Given the description of an element on the screen output the (x, y) to click on. 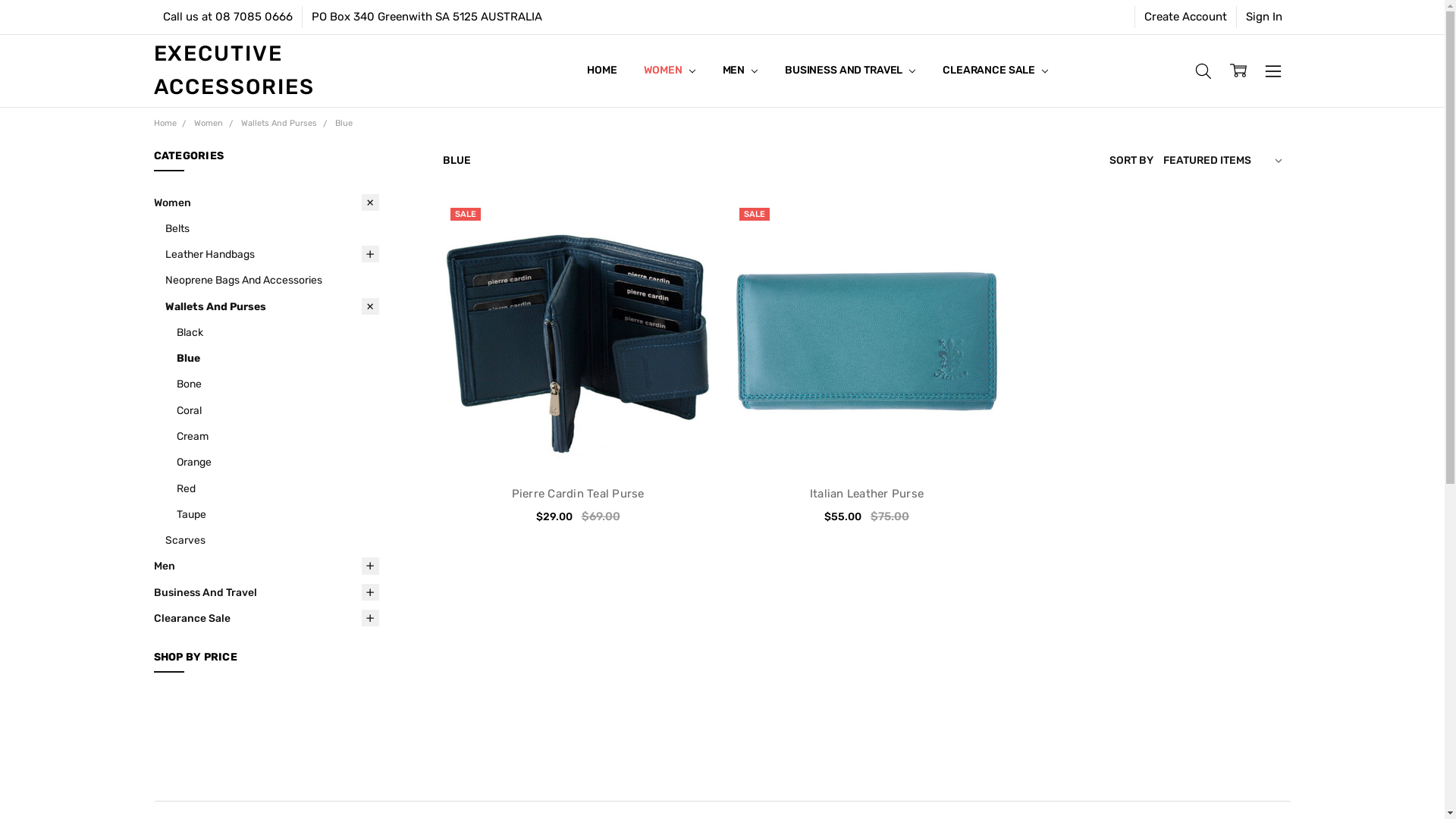
MEN Element type: text (740, 70)
Clearance Sale Element type: text (265, 617)
Leather Handbags Element type: text (272, 253)
Create Account Element type: text (1184, 17)
Pierre Cardin Teal Purse Element type: text (577, 493)
WOMEN Element type: text (669, 70)
Blue Element type: text (276, 357)
BLOG Element type: text (600, 70)
Teal Pierre Cardin Purse Element type: hover (577, 335)
Belts Element type: text (272, 228)
Cream Element type: text (276, 435)
SHIPPING Element type: text (611, 70)
Sign In Element type: text (1263, 17)
Women Element type: text (208, 123)
CLEARANCE SALE Element type: text (994, 70)
Men Element type: text (265, 565)
Scarves Element type: text (272, 539)
Coral Element type: text (276, 410)
HOME Element type: text (601, 70)
EXECUTIVE ACCESSORIES Element type: text (300, 138)
Business And Travel Element type: text (265, 592)
Women Element type: text (265, 202)
Call us at 08 7085 0666 Element type: text (227, 17)
Black Element type: text (276, 332)
Home Element type: text (164, 123)
Bone Element type: text (276, 383)
Turquoise Leather Wallet Element type: hover (866, 335)
Wallets And Purses Element type: text (272, 306)
PRIVACY POLICY Element type: text (628, 70)
CONTACT US Element type: text (619, 70)
Blue Element type: text (343, 123)
Show All Element type: hover (595, 70)
BUSINESS AND TRAVEL Element type: text (849, 70)
Red Element type: text (276, 488)
Neoprene Bags And Accessories Element type: text (272, 279)
Italian Leather Purse Element type: text (866, 493)
Wallets And Purses Element type: text (278, 123)
FAQ Element type: text (597, 70)
Orange Element type: text (276, 461)
Taupe Element type: text (276, 514)
TERMS AND CONDITIONS Element type: text (648, 70)
ABOUT US Element type: text (612, 70)
PO Box 340 Greenwith SA 5125 AUSTRALIA Element type: text (425, 17)
